Given the description of an element on the screen output the (x, y) to click on. 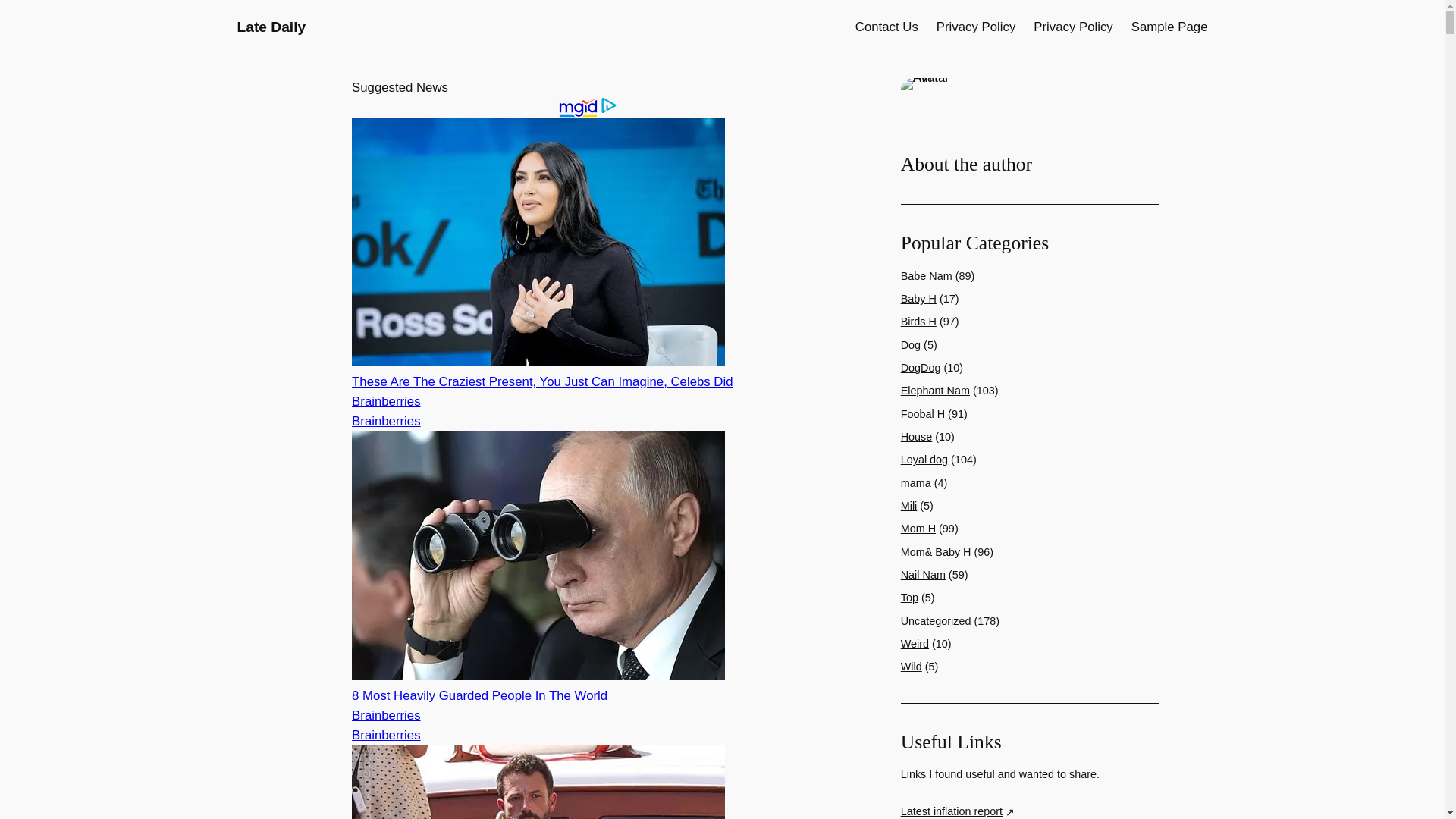
Late Daily (270, 26)
Foobal H (922, 413)
Nail Nam (922, 574)
Mili (909, 505)
Mom H (918, 528)
Babe Nam (926, 275)
mama (916, 482)
Privacy Policy (975, 26)
Top (909, 597)
Elephant Nam (935, 390)
Privacy Policy (1072, 26)
Baby H (918, 298)
House (917, 436)
Weird (914, 644)
Contact Us (887, 26)
